Given the description of an element on the screen output the (x, y) to click on. 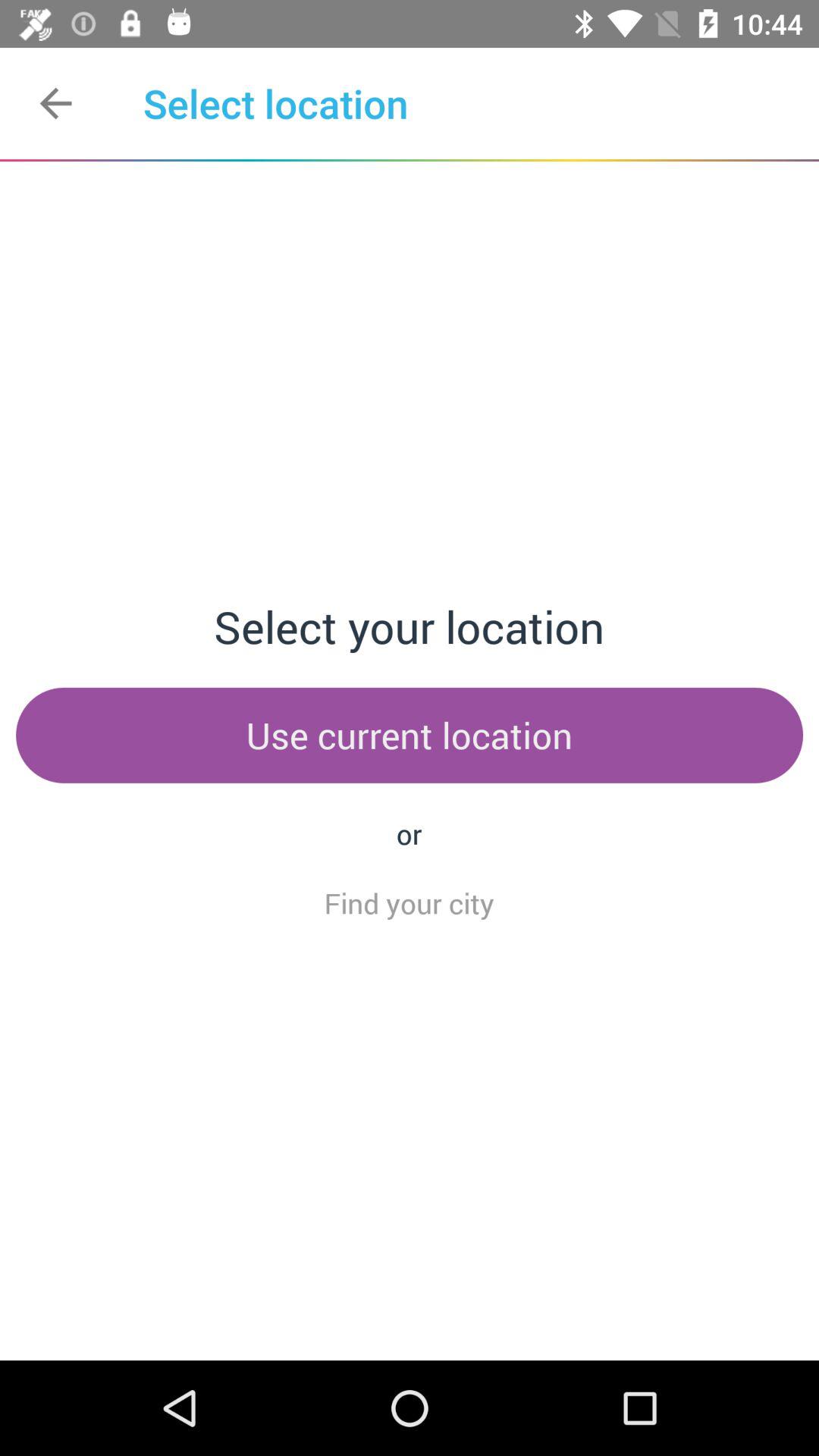
tap the item next to select location item (55, 103)
